Given the description of an element on the screen output the (x, y) to click on. 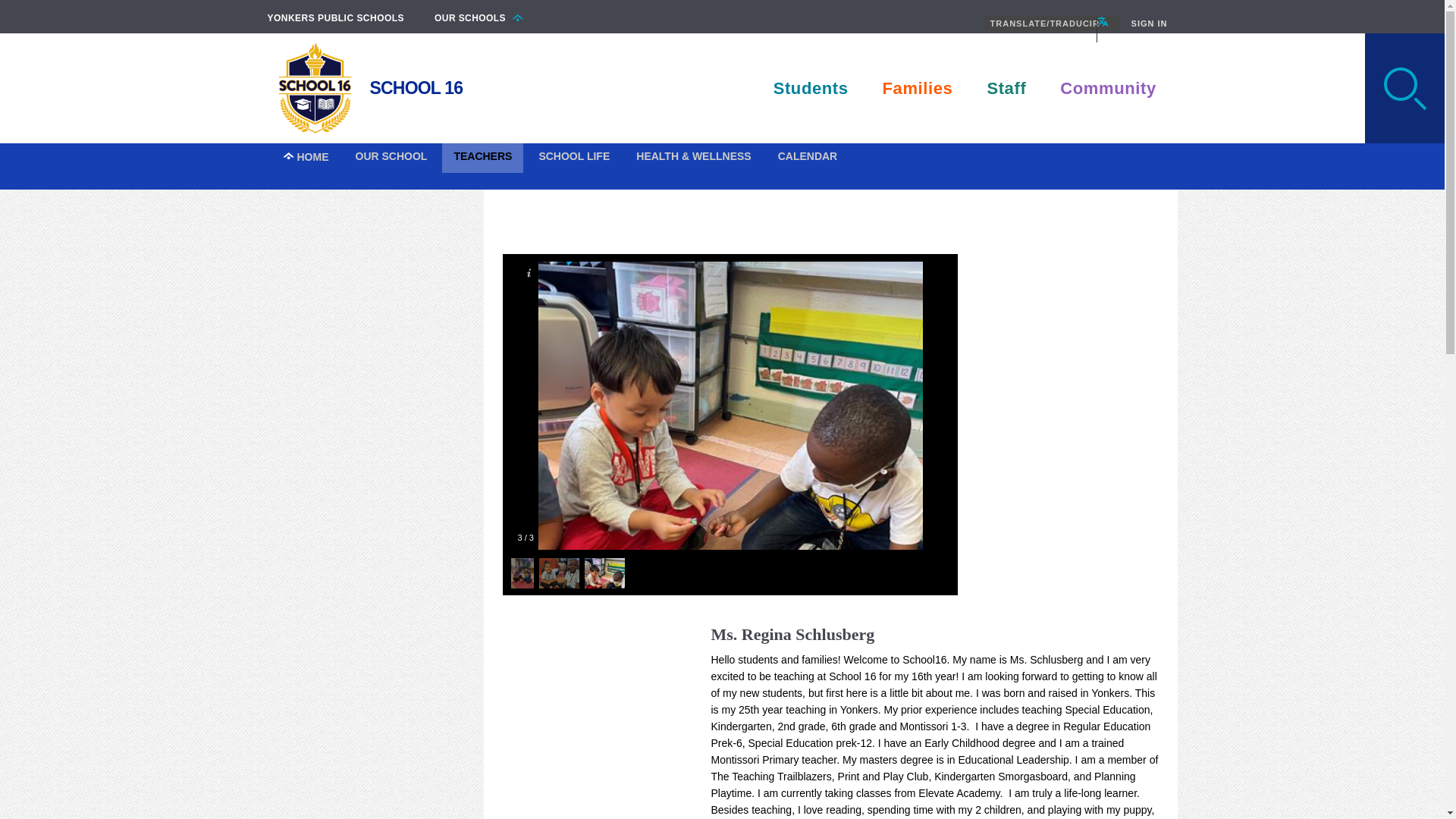
School 16 (313, 87)
